Given the description of an element on the screen output the (x, y) to click on. 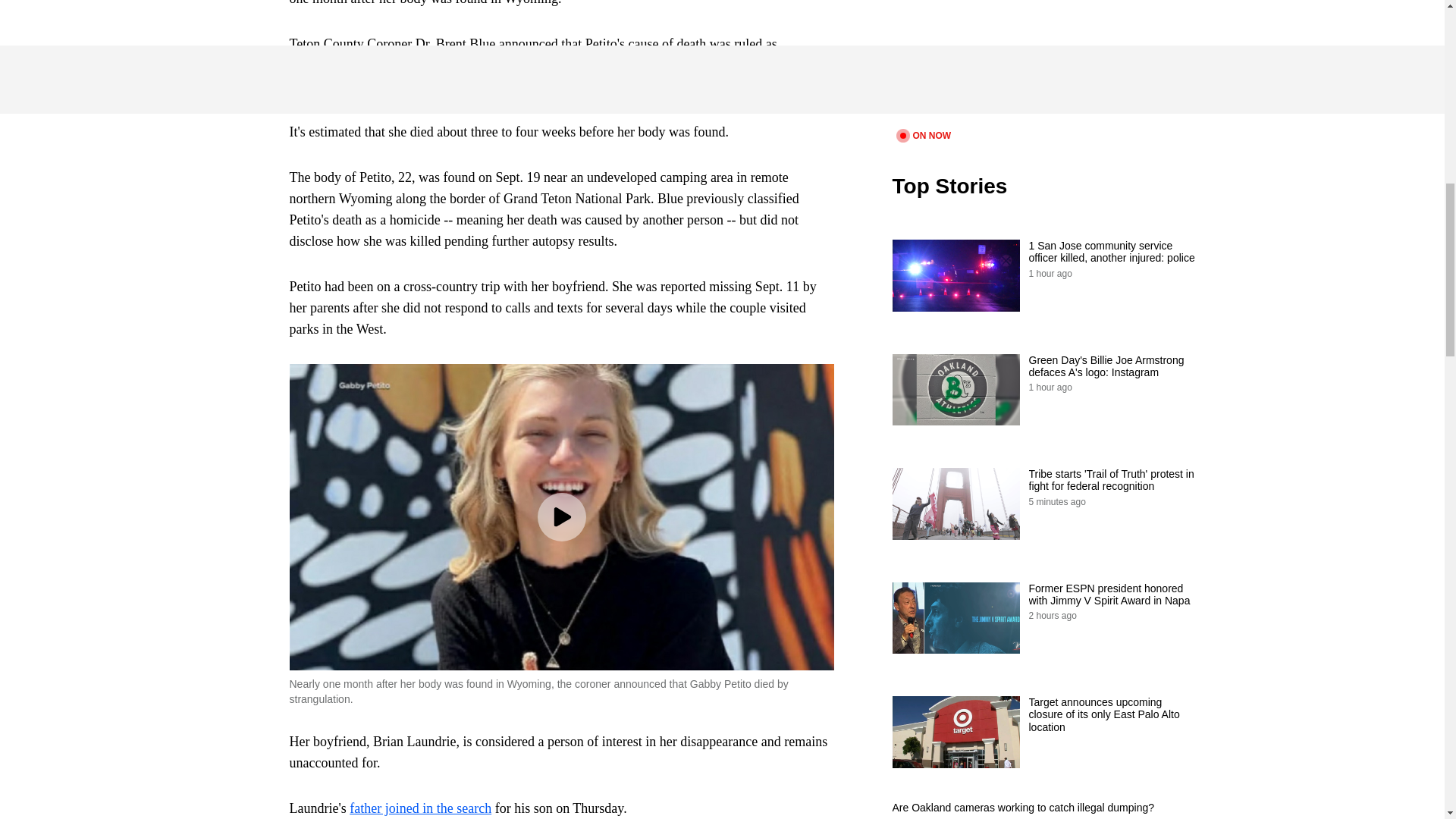
video.title (1043, 62)
